Given the description of an element on the screen output the (x, y) to click on. 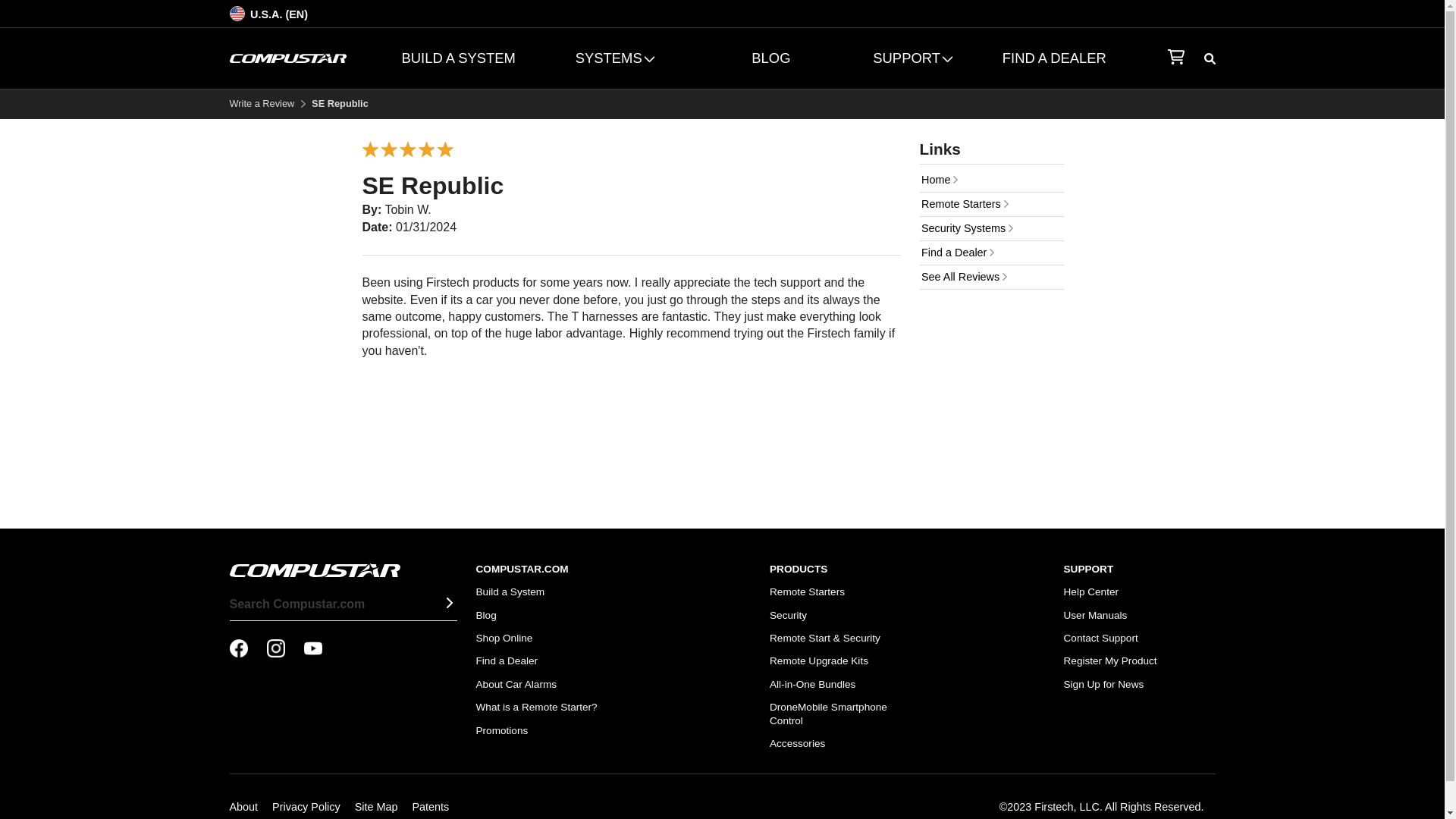
expand-menu-item (613, 57)
expand-menu-item (912, 57)
BLOG (771, 57)
BUILD A SYSTEM (457, 57)
FIND A DEALER (1054, 57)
SUPPORT (912, 57)
SYSTEMS (613, 57)
Write a Review (261, 103)
Home (990, 179)
